Given the description of an element on the screen output the (x, y) to click on. 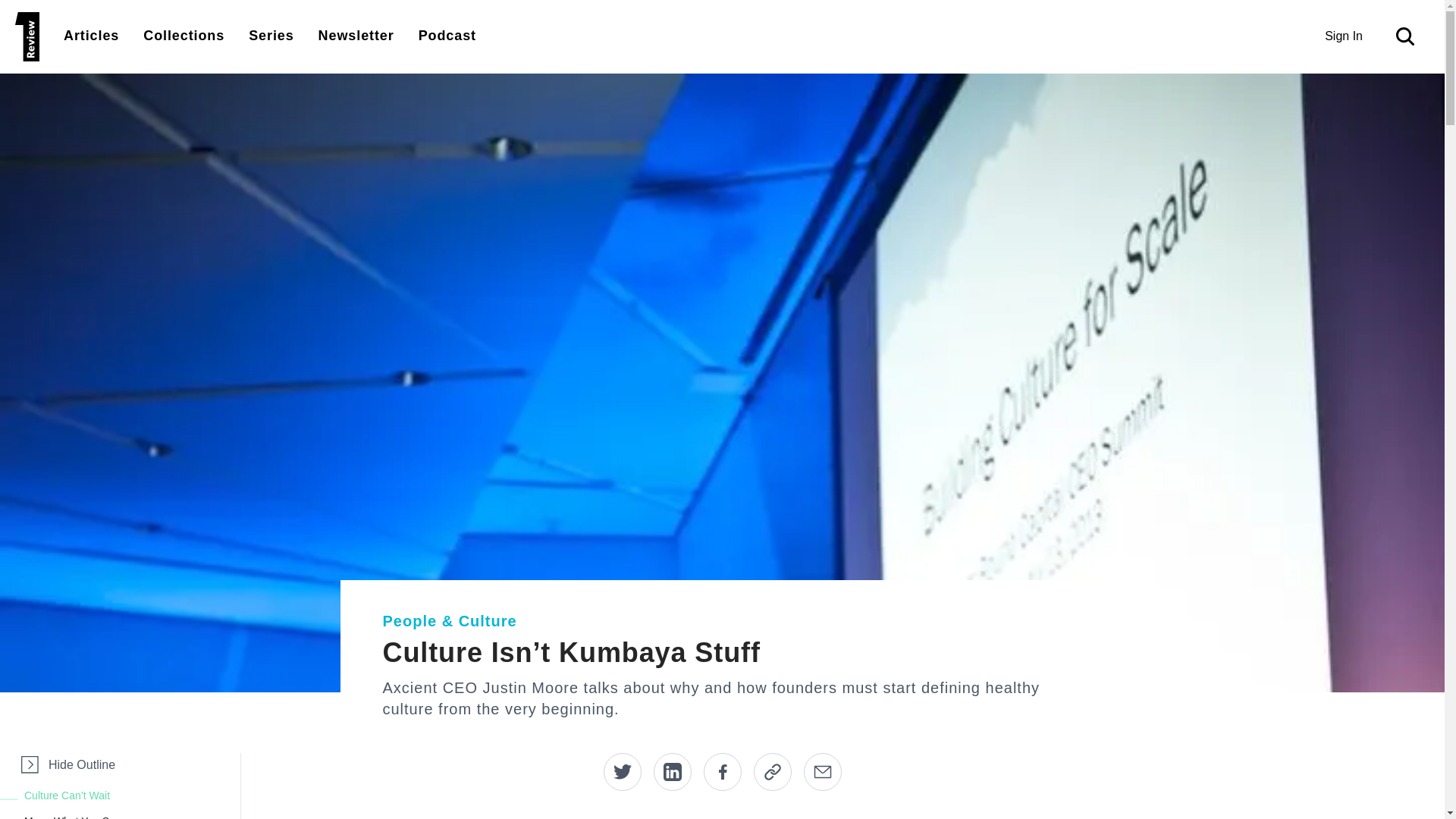
Series (271, 35)
Share on Facebook (722, 771)
Share on Twitter (623, 771)
Share by email (822, 771)
Search (1408, 36)
Newsletter (355, 35)
Collections (182, 35)
Podcast (446, 35)
Copy URL (773, 771)
Share on Linkedin (672, 771)
